Given the description of an element on the screen output the (x, y) to click on. 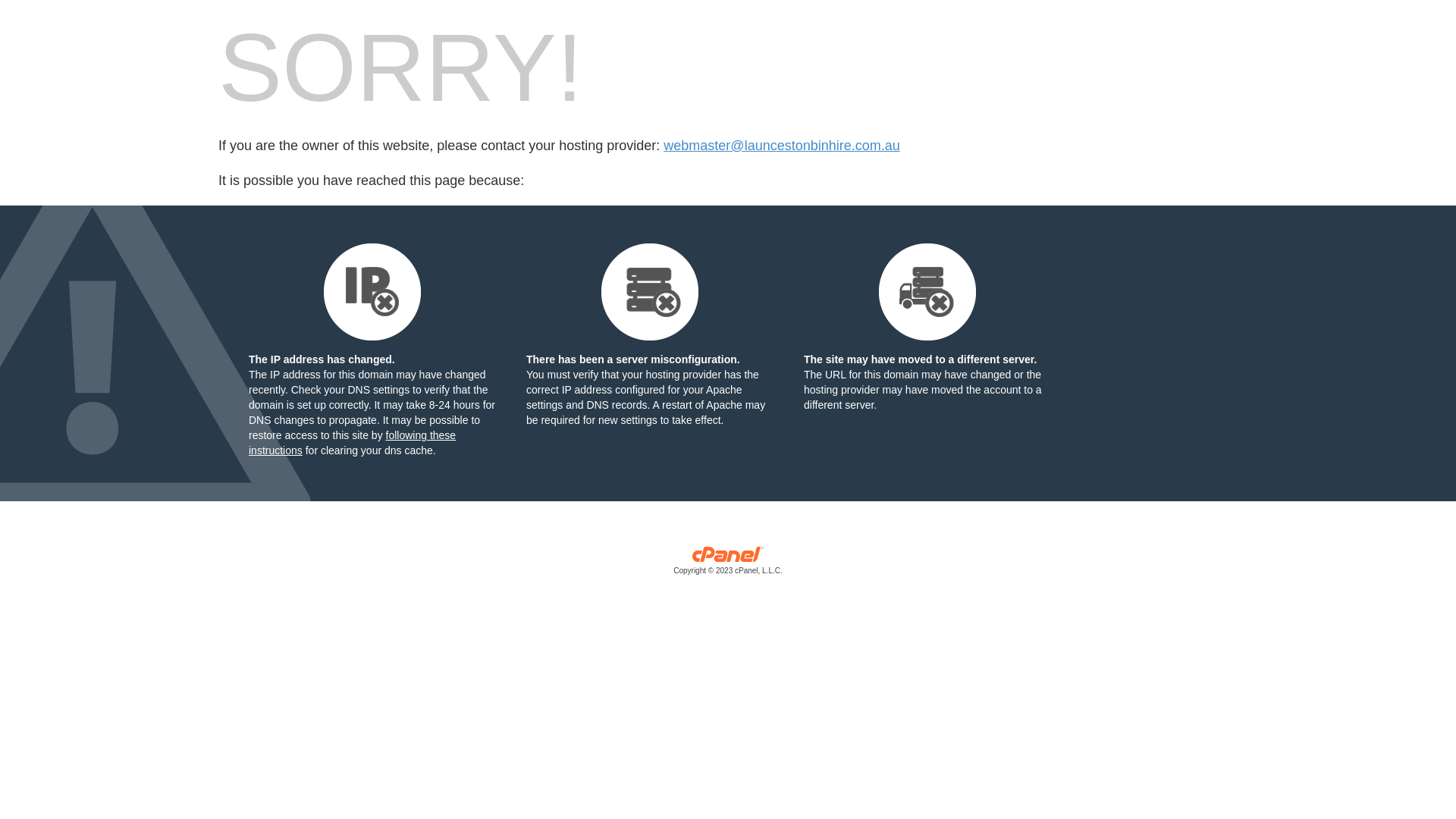
webmaster@launcestonbinhire.com.au Element type: text (781, 145)
following these instructions Element type: text (351, 442)
